Given the description of an element on the screen output the (x, y) to click on. 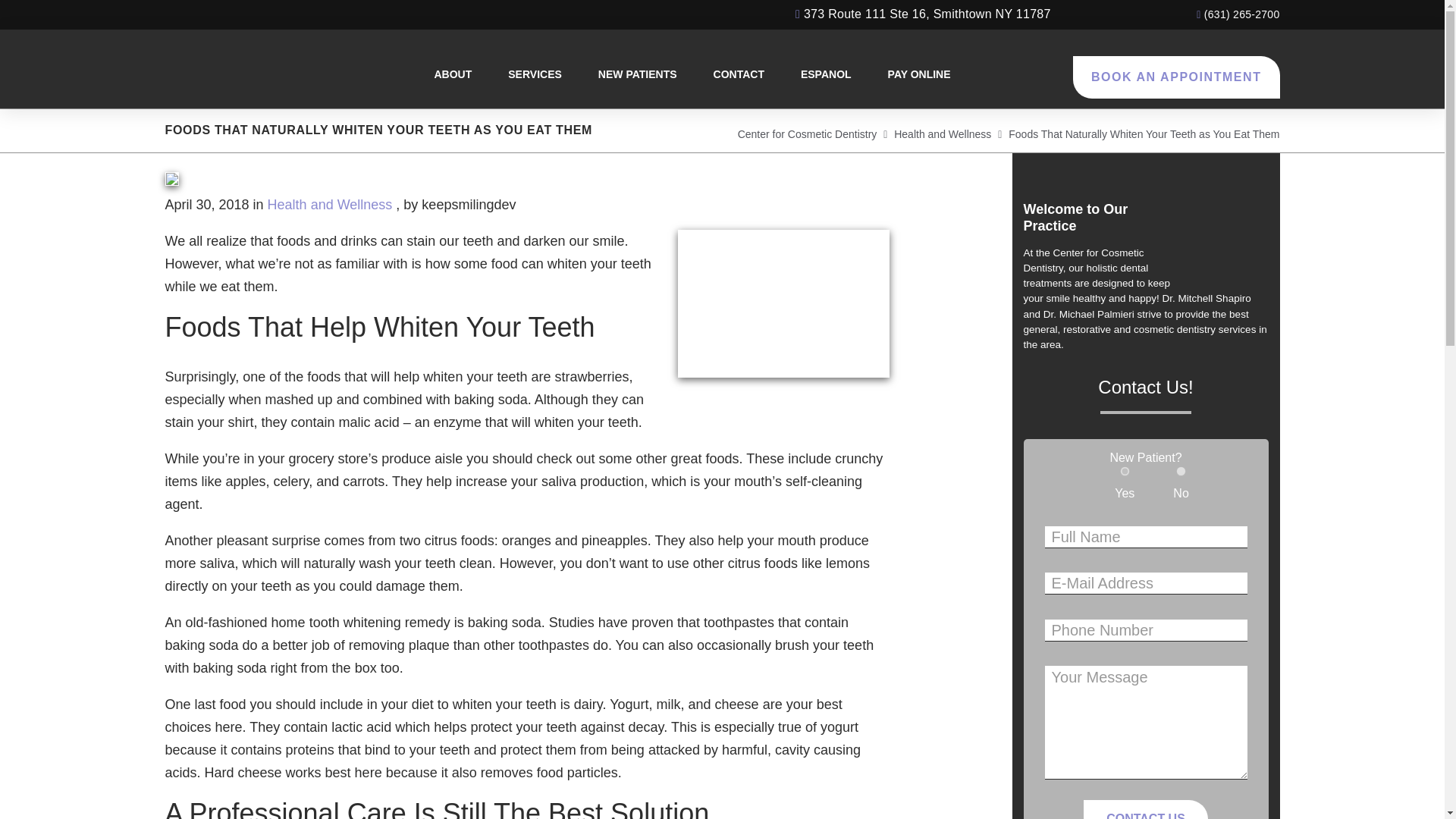
ESPANOL (746, 74)
373 Route 111 Ste 16, Smithtown NY 11787 (922, 14)
CONTACT (659, 74)
Contact Us (1145, 796)
PAY ONLINE (840, 74)
SERVICES (437, 74)
ABOUT (345, 74)
NEW PATIENTS (552, 74)
Dental friendly foods that help whiten your teeth.  (783, 303)
